Given the description of an element on the screen output the (x, y) to click on. 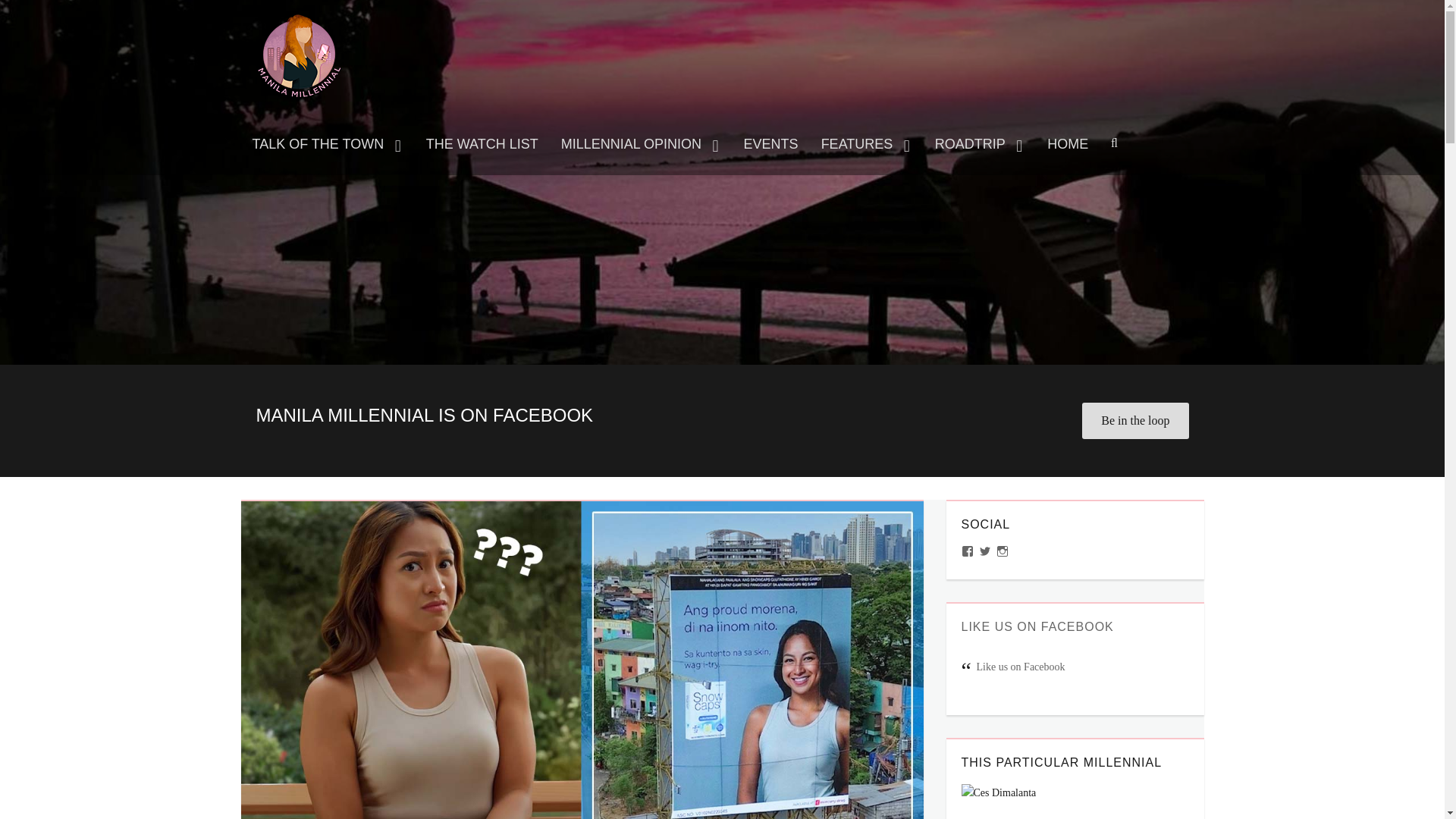
EVENTS (770, 144)
HOME (1067, 144)
TALK OF THE TOWN (327, 144)
Be in the loop (1134, 420)
MANILA MILLENNIAL (343, 22)
ROADTRIP (979, 144)
FEATURES (866, 144)
THE WATCH LIST (482, 144)
MILLENNIAL OPINION (641, 144)
